Given the description of an element on the screen output the (x, y) to click on. 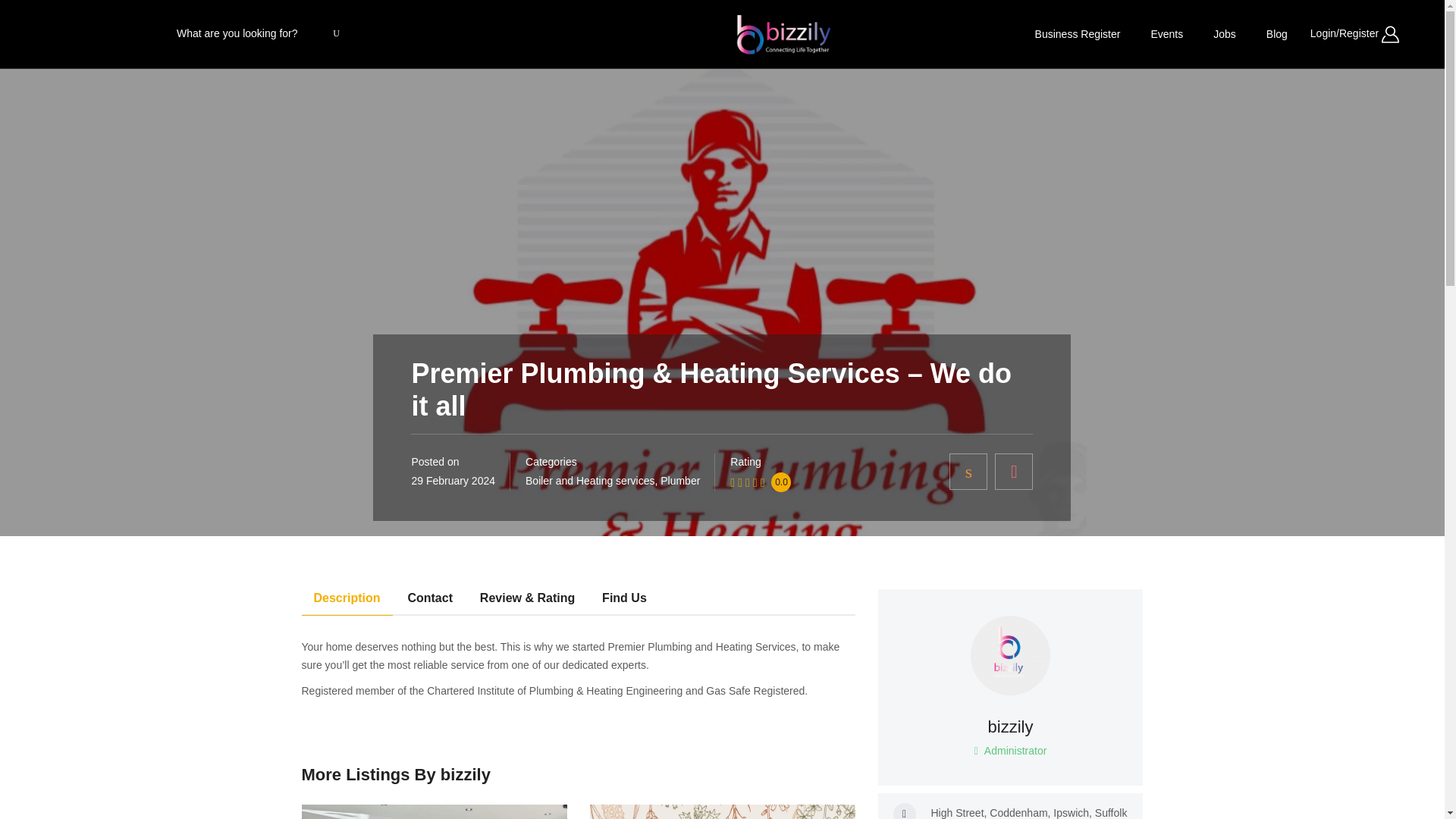
The Mighty Mug cafe - Great coffee, positive vibes (434, 811)
Plumber (680, 480)
Events (1166, 33)
Contact (429, 601)
Business Register (1077, 33)
Boiler and Heating services (589, 480)
Description (347, 601)
Among the Wildflowers - Books for Children  (1010, 725)
Find Us (722, 811)
